Given the description of an element on the screen output the (x, y) to click on. 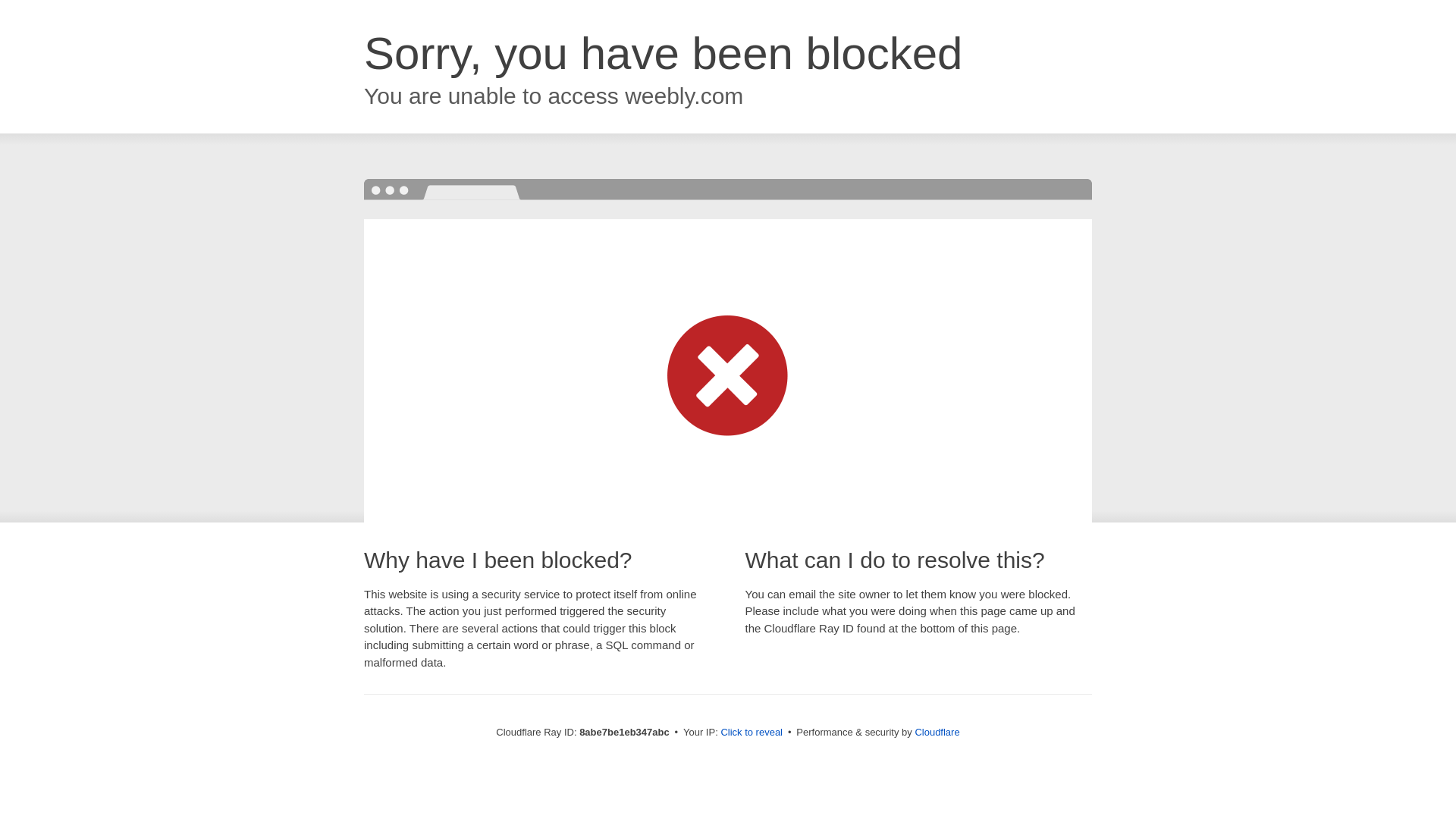
Click to reveal (751, 732)
Cloudflare (936, 731)
